Given the description of an element on the screen output the (x, y) to click on. 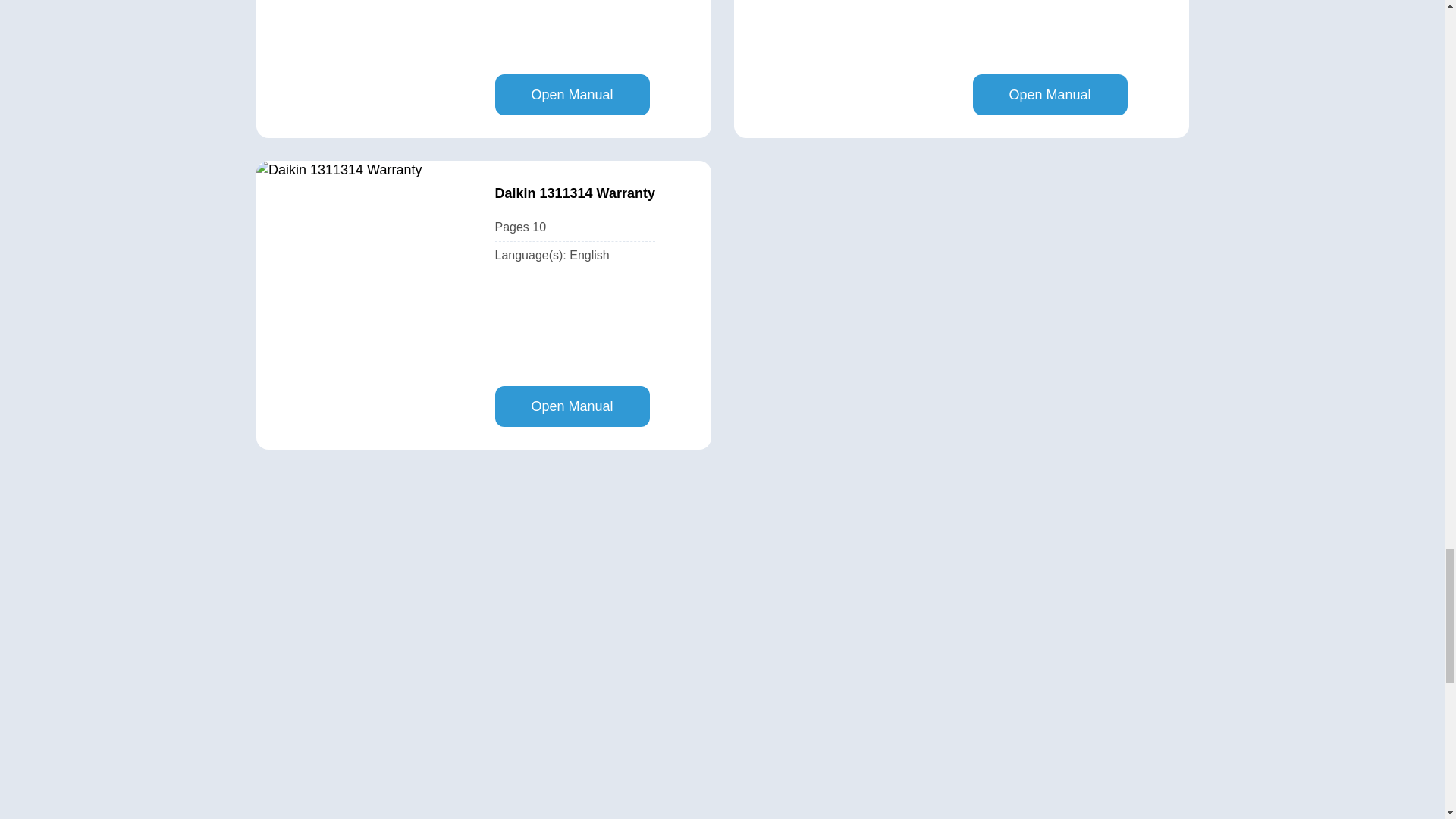
Open Manual (572, 405)
Open Manual (1049, 94)
Open Manual (572, 94)
Daikin 1311314 Warranty (574, 193)
